Given the description of an element on the screen output the (x, y) to click on. 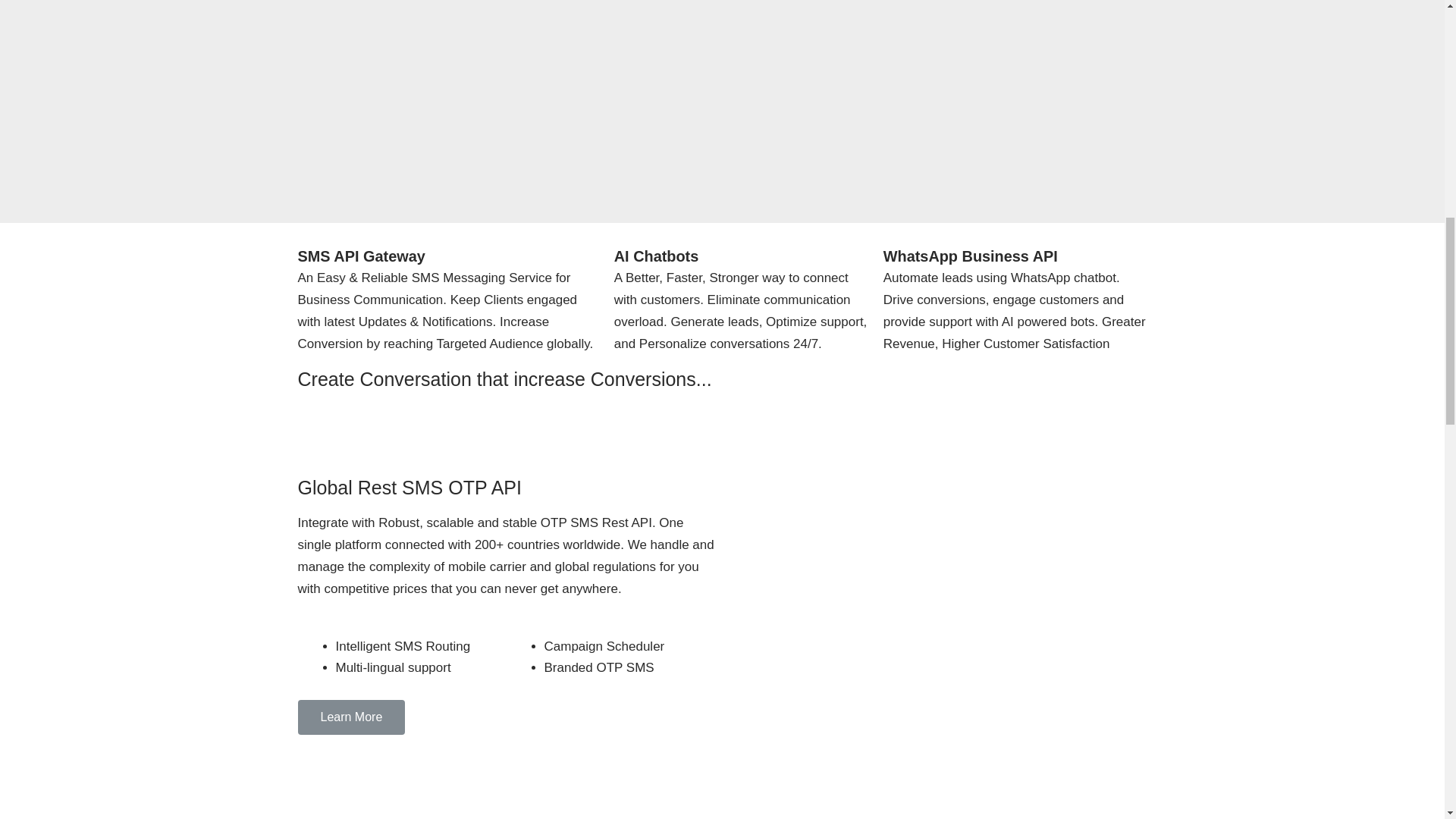
Learn More (350, 717)
